Given the description of an element on the screen output the (x, y) to click on. 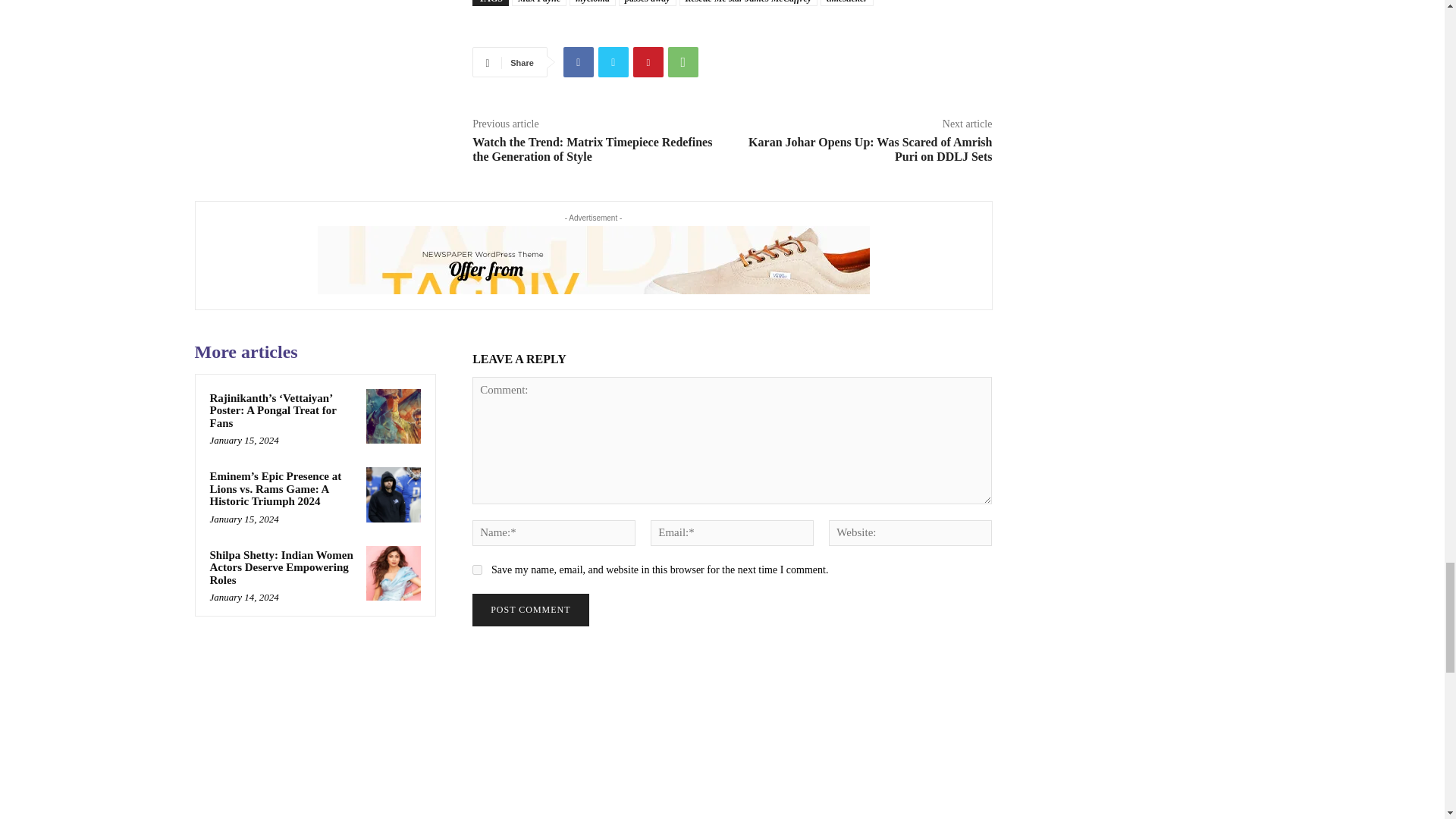
yes (476, 569)
Post Comment (529, 609)
